Given the description of an element on the screen output the (x, y) to click on. 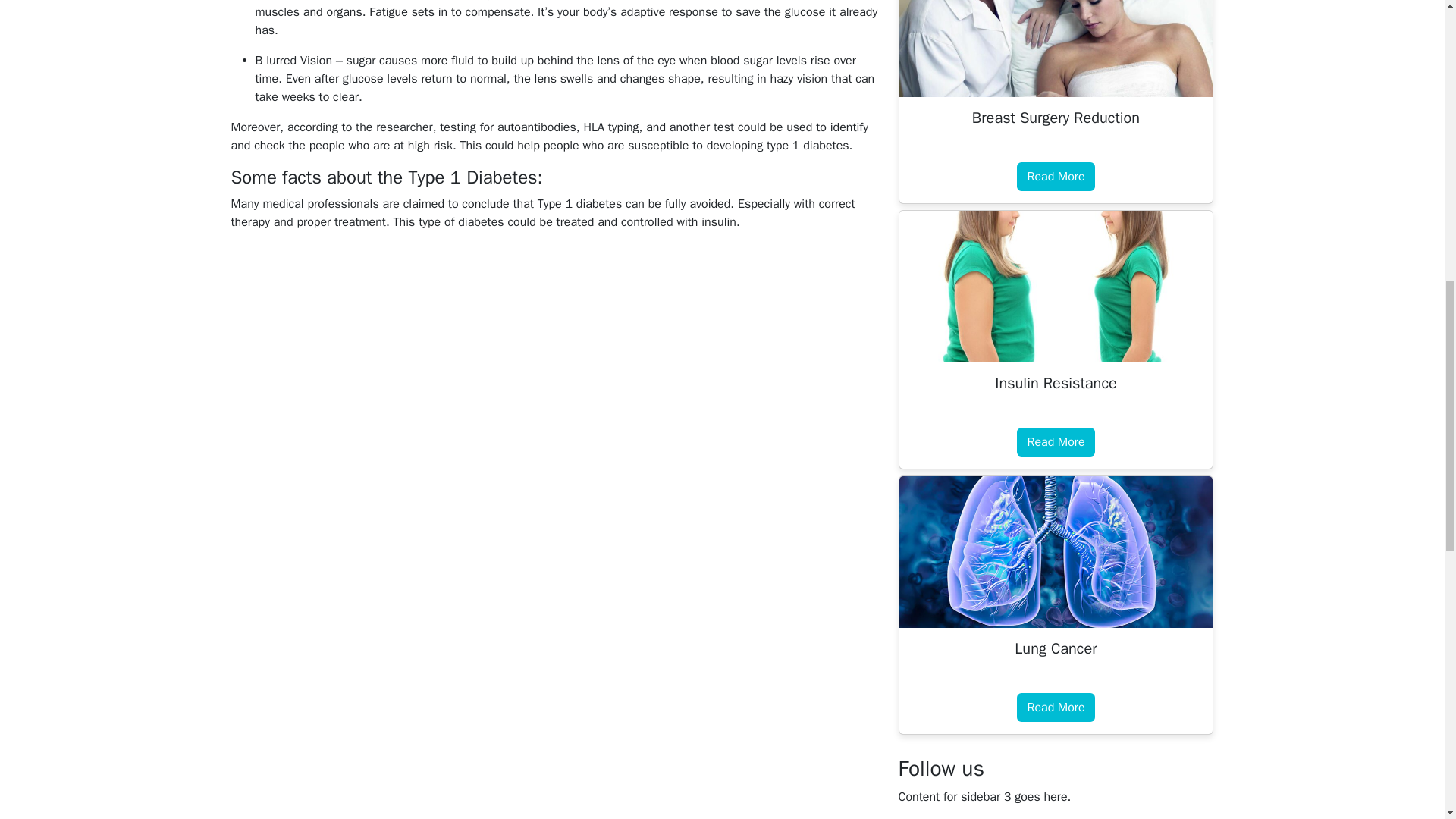
Read More (1055, 706)
Read More (1055, 176)
Read More (1055, 441)
